Given the description of an element on the screen output the (x, y) to click on. 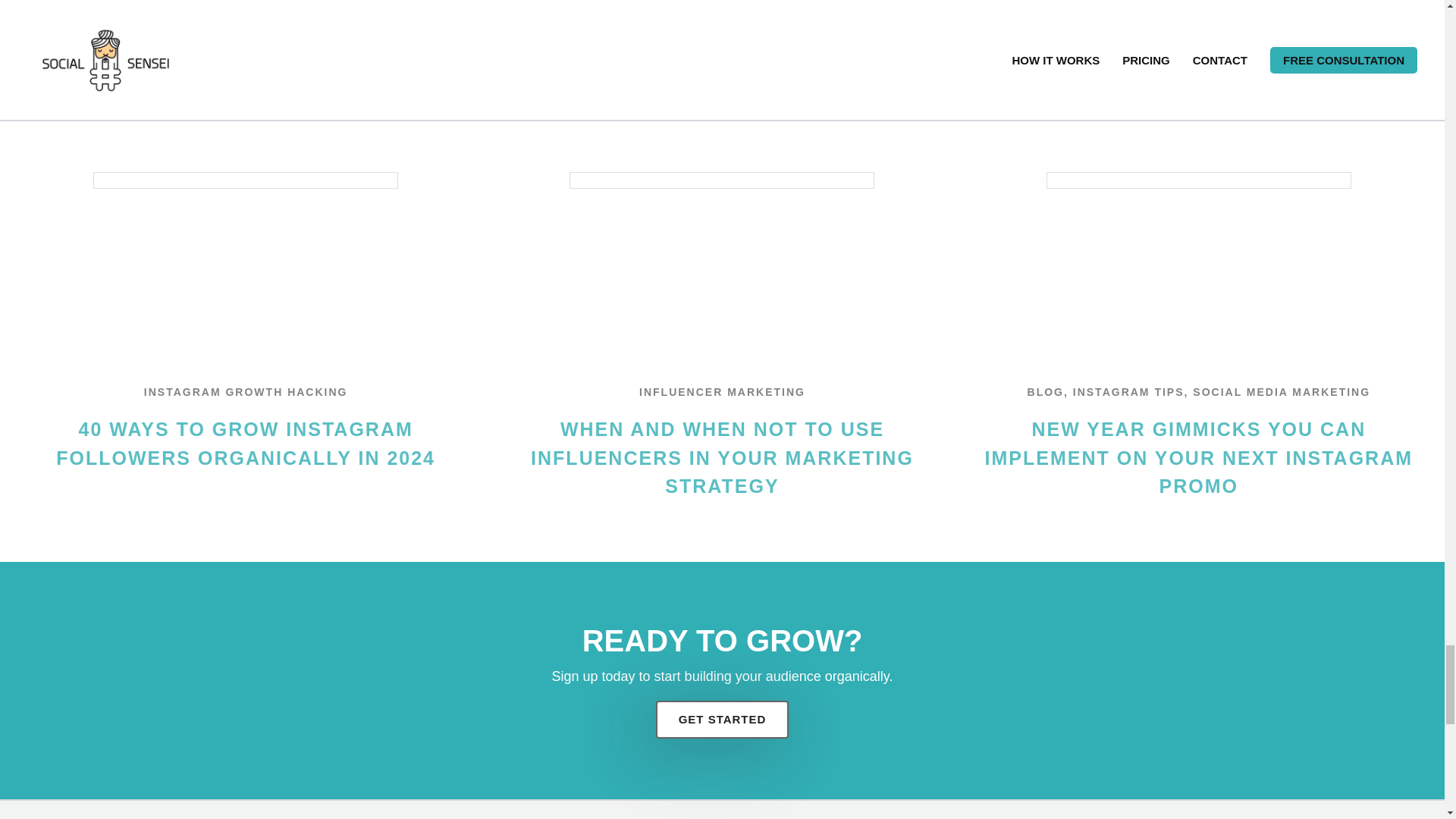
INFLUENCER MARKETING (722, 391)
SOCIAL MEDIA MARKETING (1281, 391)
40 WAYS TO GROW INSTAGRAM FOLLOWERS ORGANICALLY IN 2024 (245, 443)
BLOG (1045, 391)
INSTAGRAM TIPS (1129, 391)
GET STARTED (722, 720)
INSTAGRAM GROWTH HACKING (245, 391)
